Given the description of an element on the screen output the (x, y) to click on. 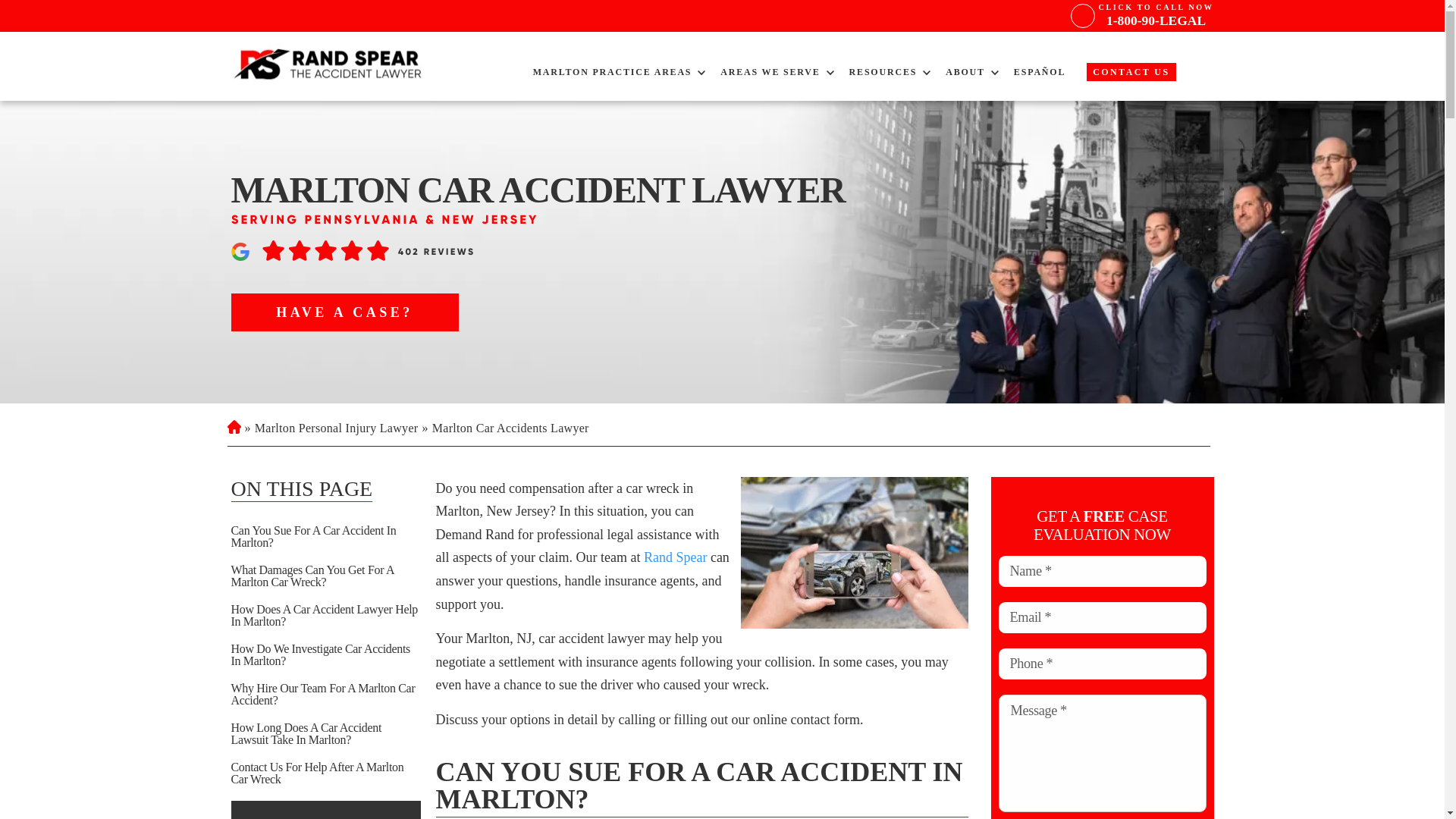
Can You Sue For A Car Accident In Marlton? (325, 536)
How Long Does A Car Accident Lawsuit Take In Marlton? (325, 733)
How Does A Car Accident Lawyer Help In Marlton? (325, 615)
What Damages Can You Get For A Marlton Car Wreck? (325, 576)
RESOURCES (1156, 15)
HAVE A CASE? (882, 71)
AREAS WE SERVE (344, 312)
Contact Us (769, 71)
Contact Us For Help After A Marlton Car Wreck (1130, 72)
